Given the description of an element on the screen output the (x, y) to click on. 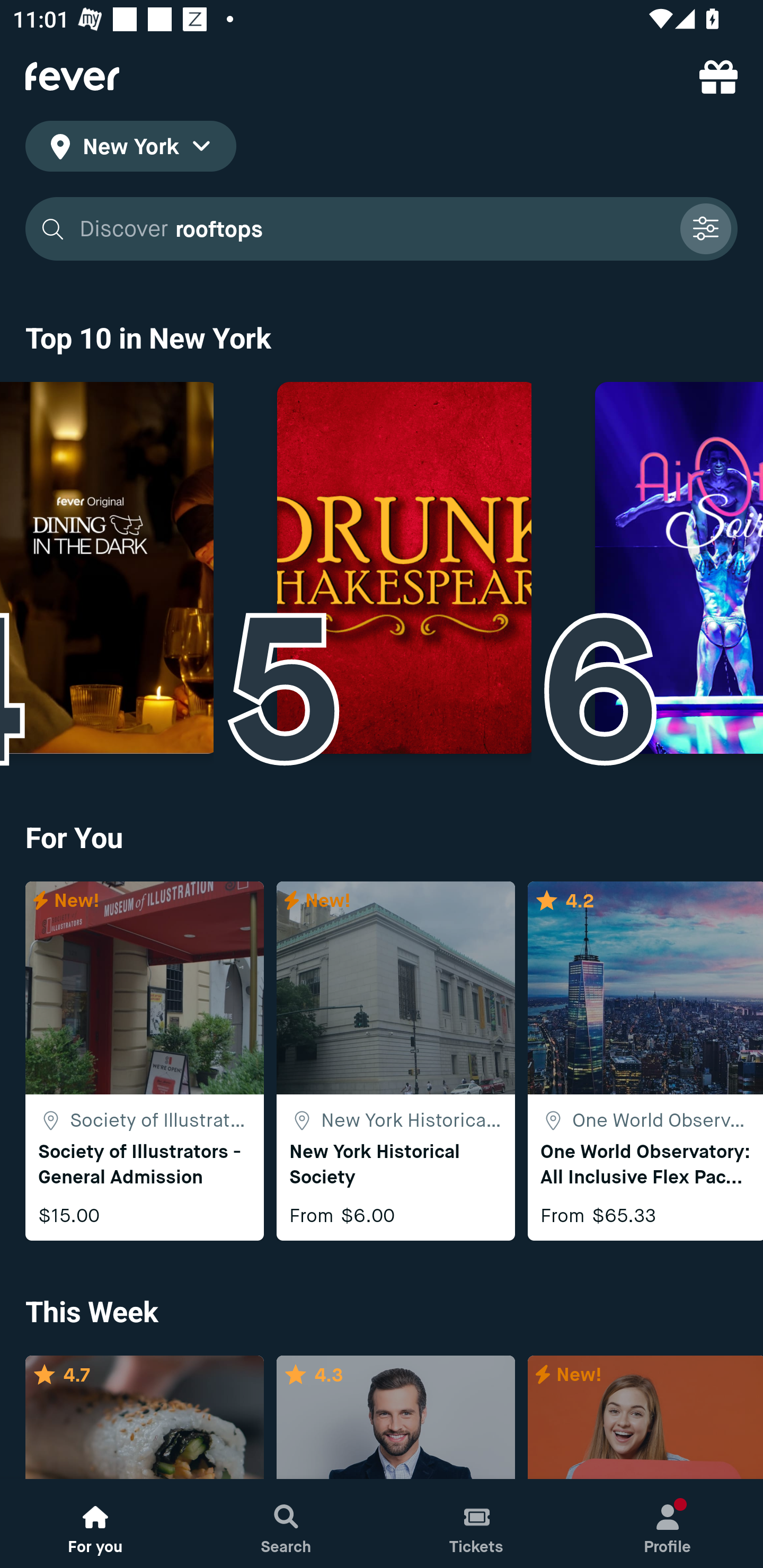
referral (718, 75)
location icon New York location icon (130, 149)
Discover rooftops (381, 228)
Discover rooftops (373, 228)
Search (285, 1523)
Tickets (476, 1523)
Profile, New notification Profile (667, 1523)
